Given the description of an element on the screen output the (x, y) to click on. 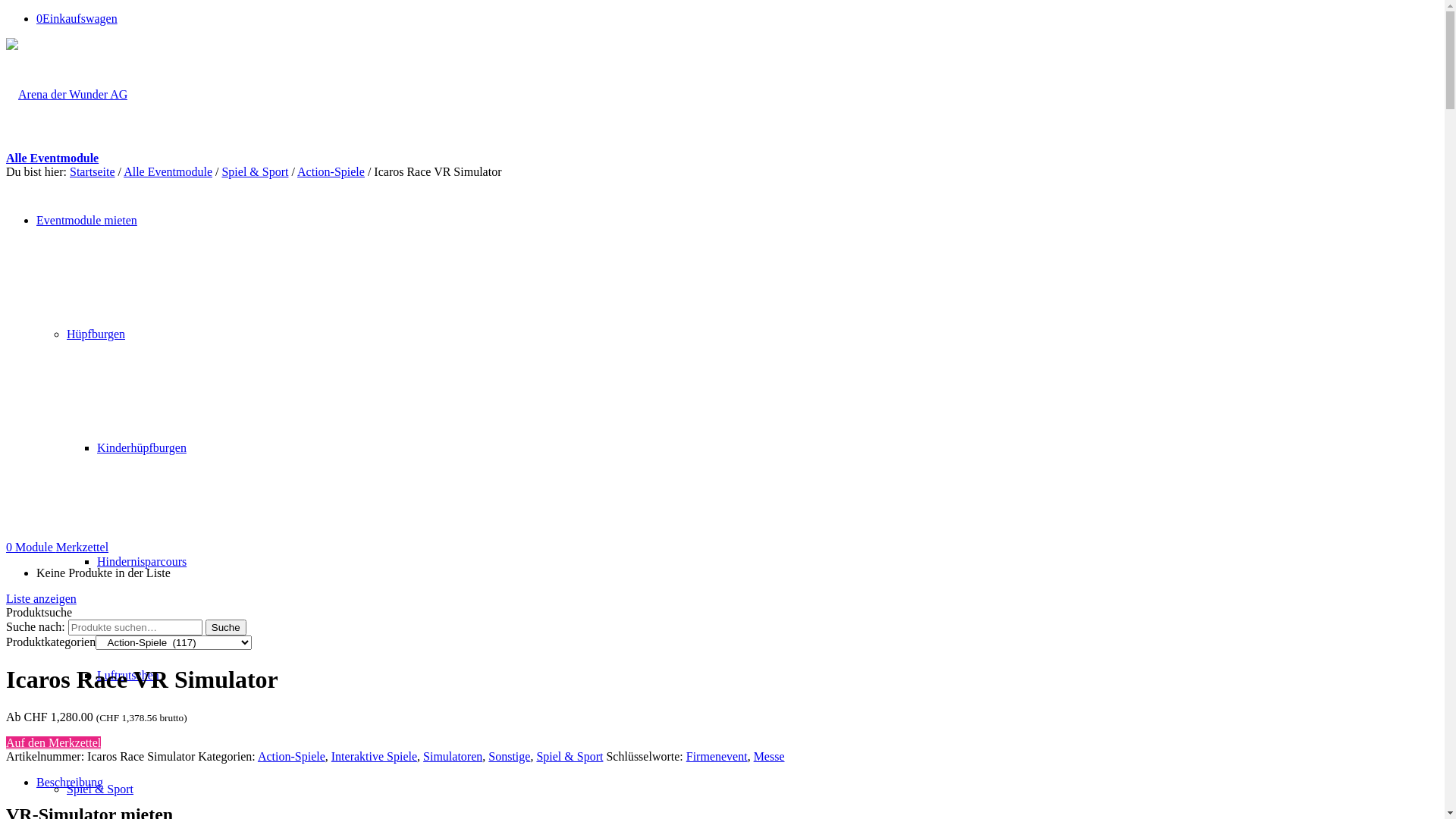
Messe Element type: text (768, 755)
Alle Eventmodule Element type: text (167, 171)
Simulatoren Element type: text (452, 755)
Liste anzeigen Element type: text (41, 598)
Auf den Merkzettel Element type: text (53, 742)
0Einkaufswagen Element type: text (76, 18)
Action-Spiele Element type: text (330, 171)
Startseite Element type: text (92, 171)
Beschreibung Element type: text (69, 781)
Action-Spiele Element type: text (291, 755)
Sonstige Element type: text (509, 755)
0 Module Merkzettel Element type: text (57, 546)
Eventmodule mieten Element type: text (86, 219)
Luftrutschen Element type: text (128, 674)
Spiel & Sport Element type: text (254, 171)
Firmenevent Element type: text (716, 755)
Suche Element type: text (225, 627)
Alle Eventmodule Element type: text (52, 157)
Spiel & Sport Element type: text (569, 755)
Hindernisparcours Element type: text (141, 561)
Interaktive Spiele Element type: text (374, 755)
Spiel & Sport Element type: text (99, 788)
